Given the description of an element on the screen output the (x, y) to click on. 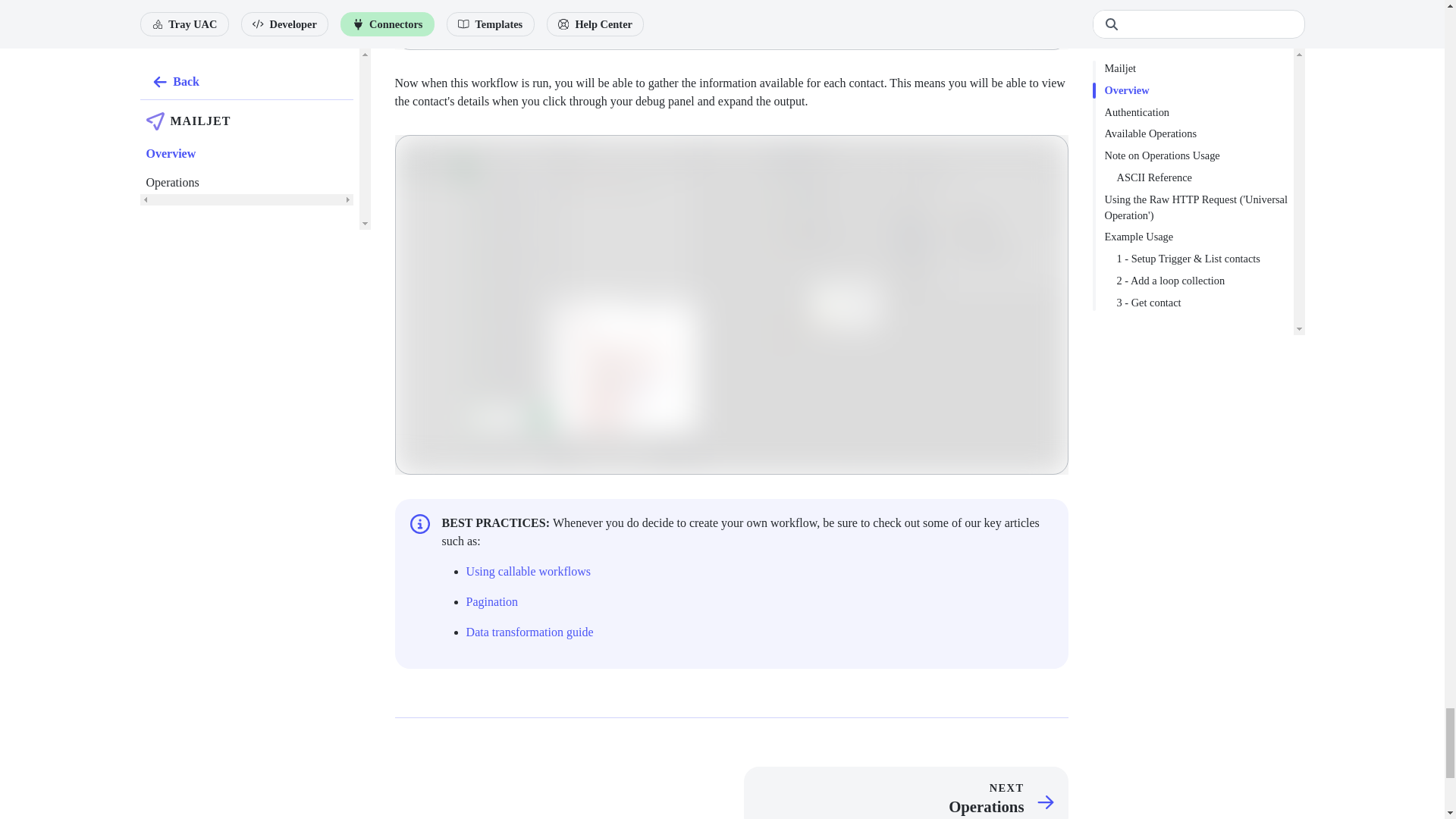
Data transformation guide (529, 631)
Pagination (491, 601)
Using callable workflows (528, 571)
